Given the description of an element on the screen output the (x, y) to click on. 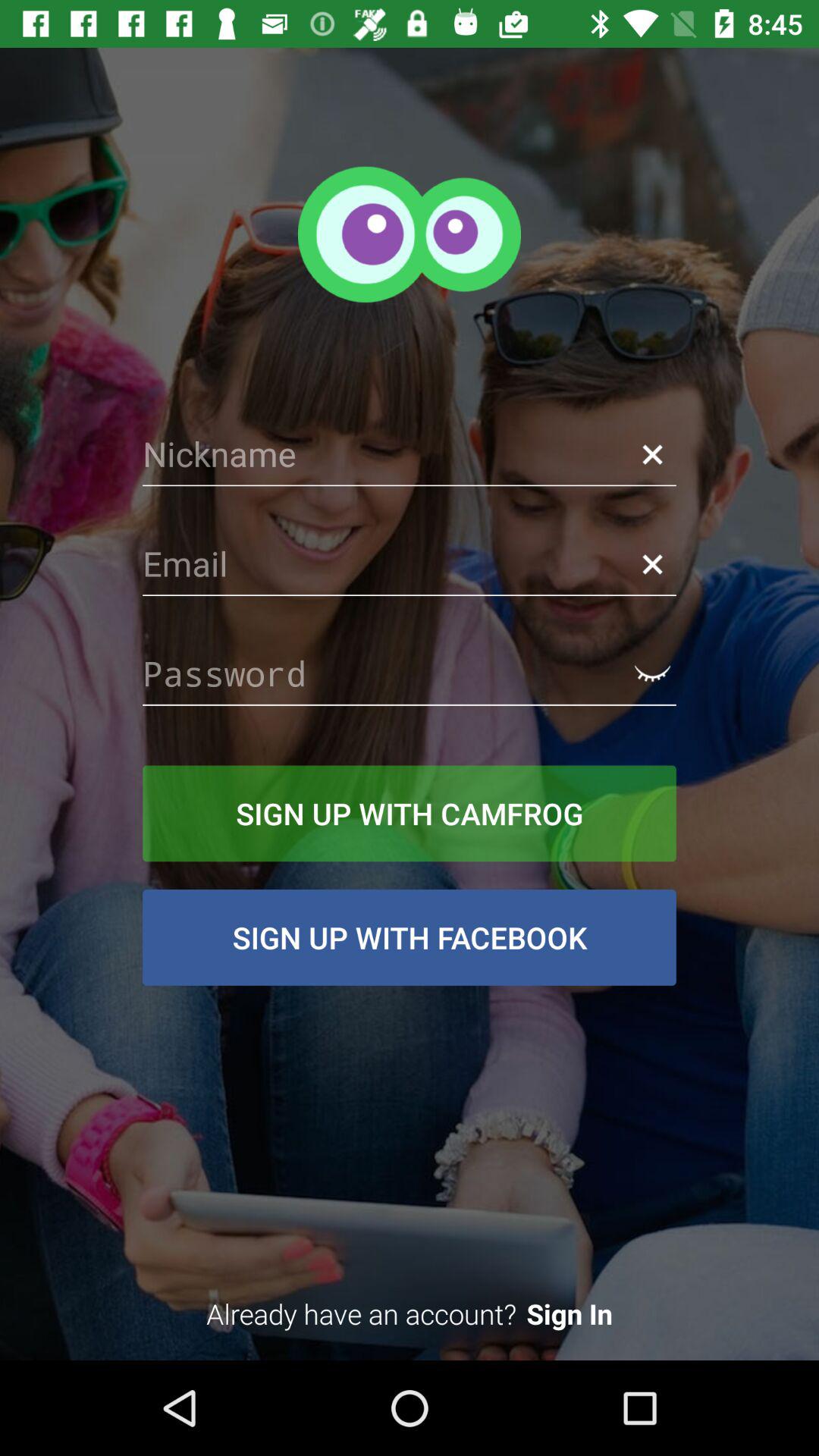
enter password (409, 673)
